Given the description of an element on the screen output the (x, y) to click on. 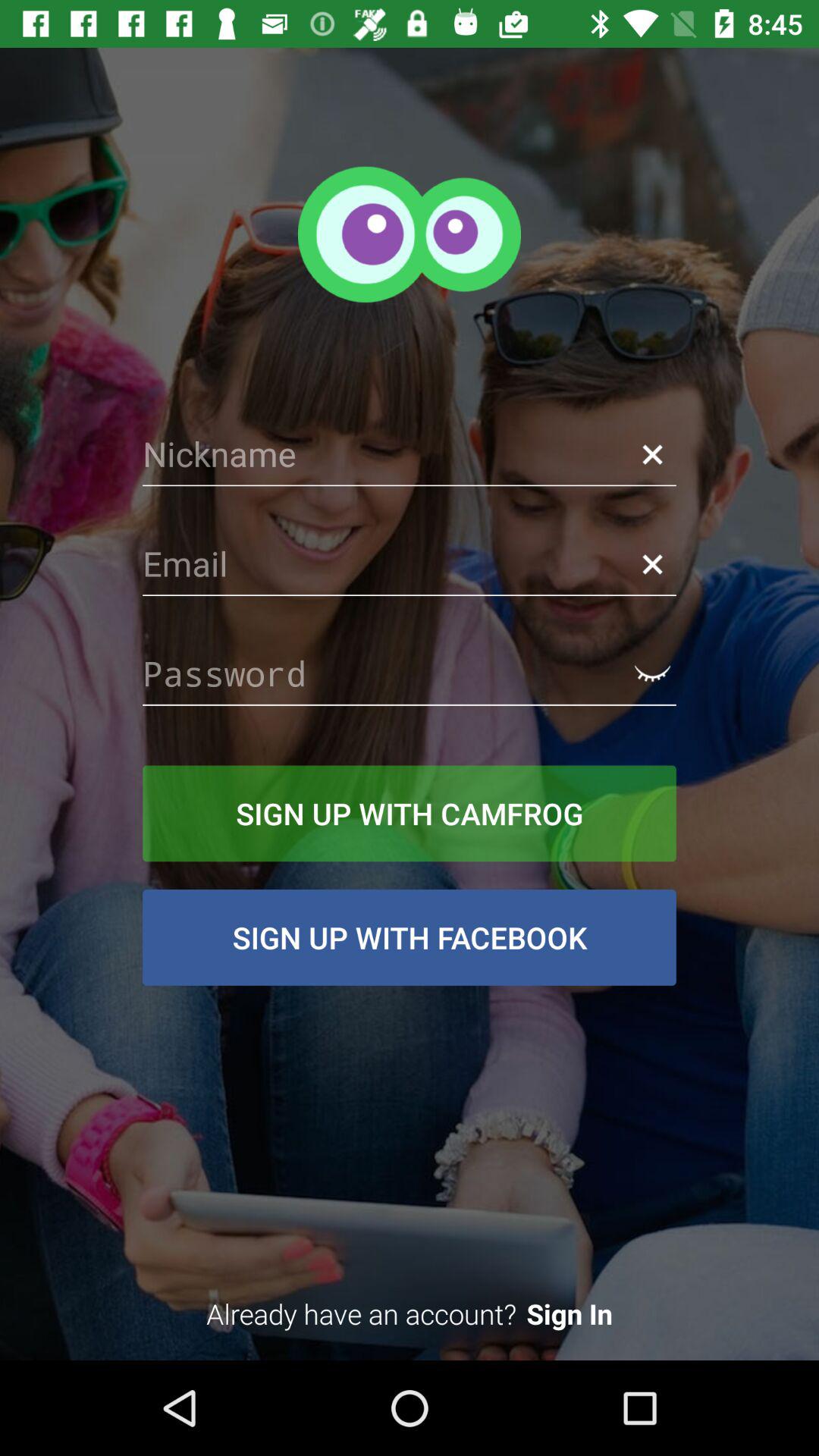
enter password (409, 673)
